Given the description of an element on the screen output the (x, y) to click on. 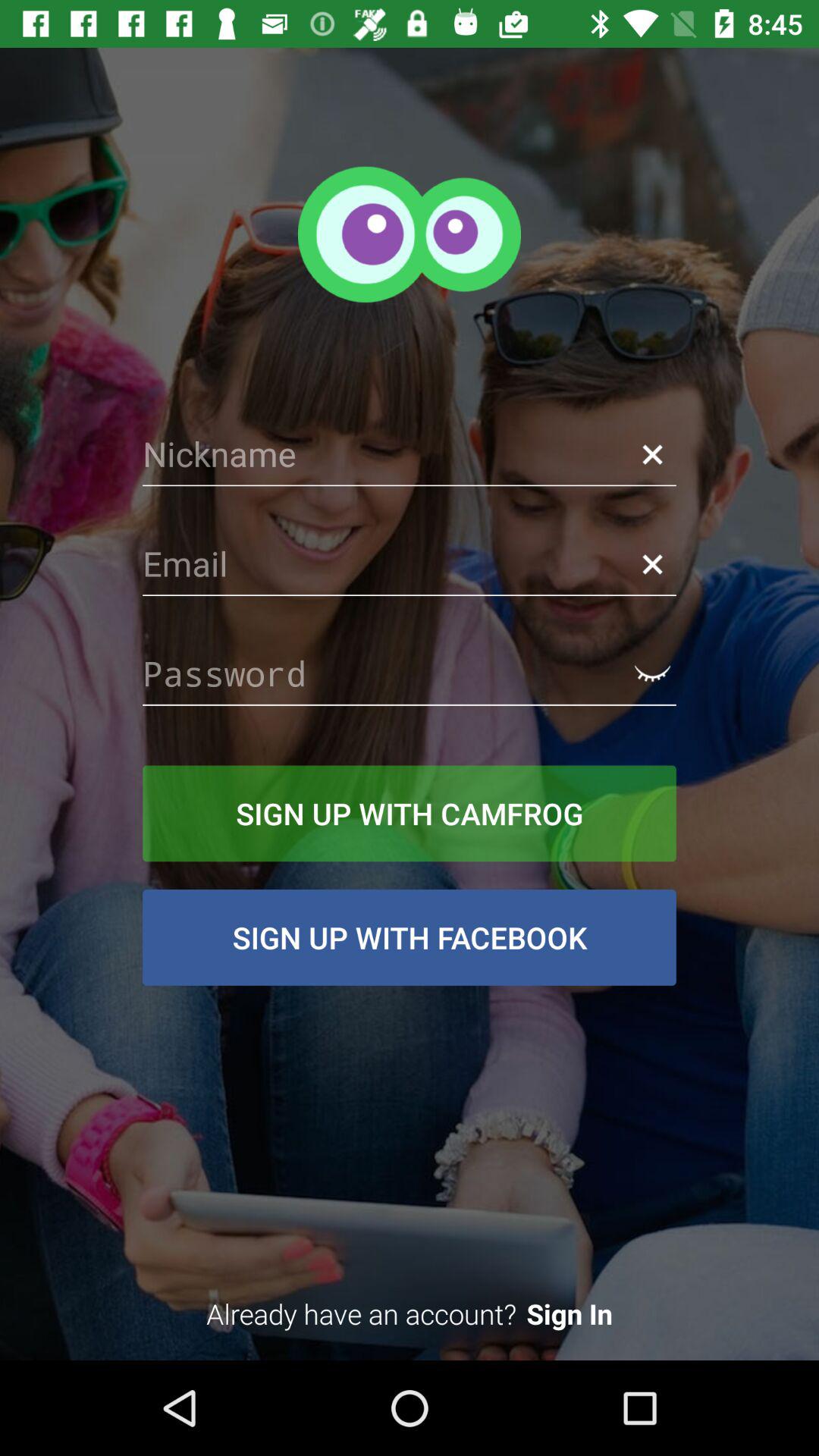
enter password (409, 673)
